Given the description of an element on the screen output the (x, y) to click on. 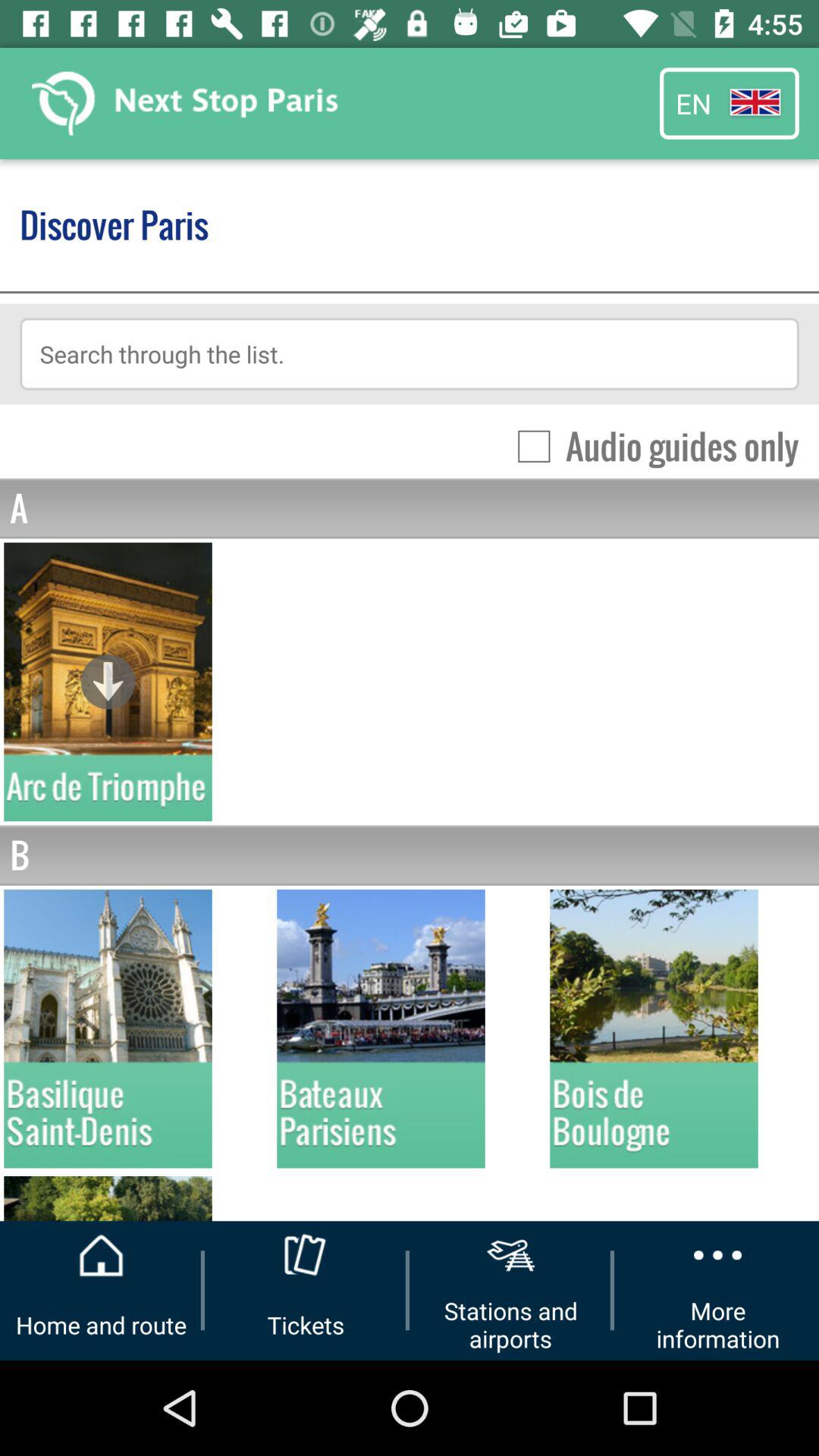
launch audio guides only item (650, 446)
